Given the description of an element on the screen output the (x, y) to click on. 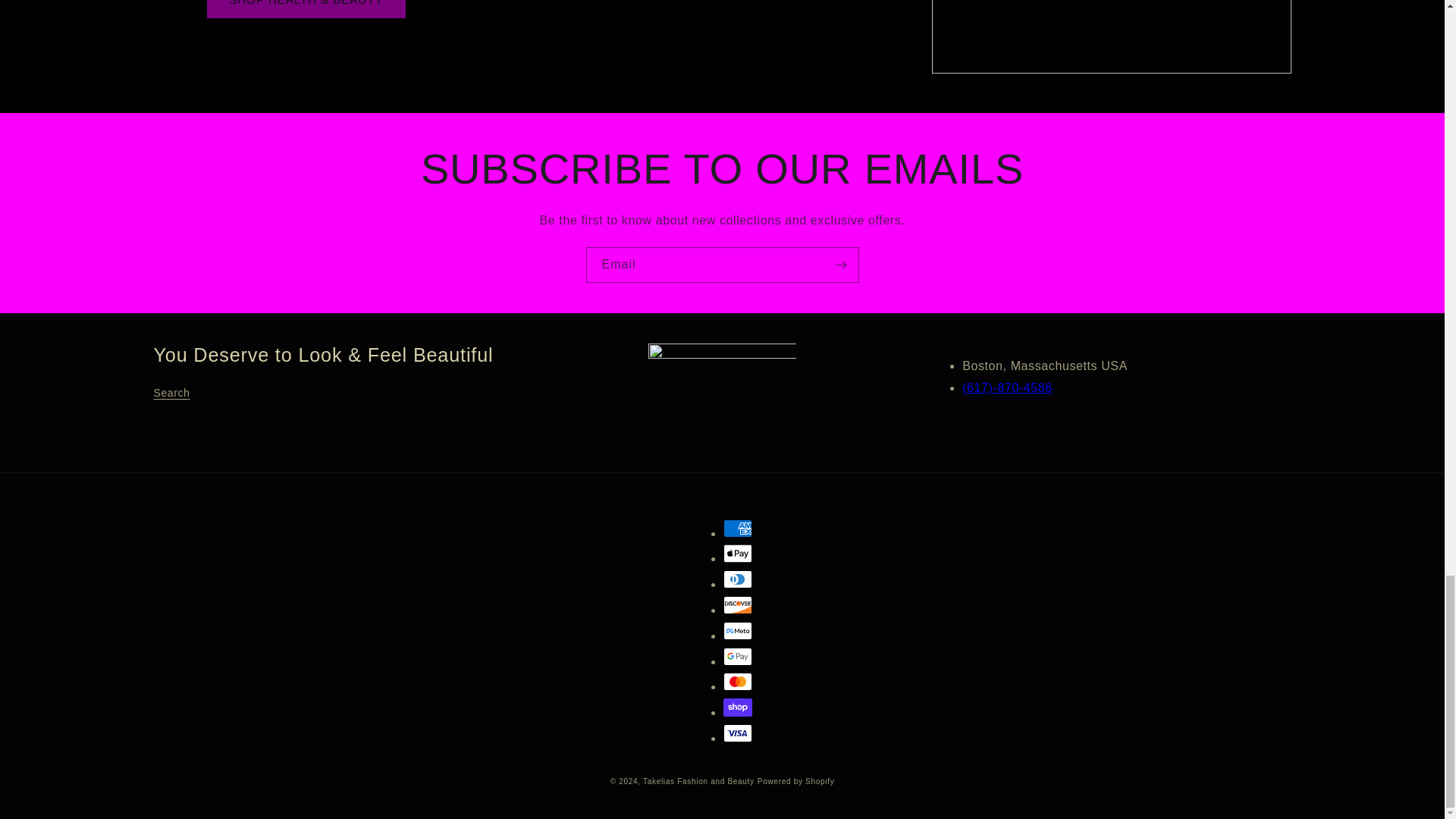
Meta Pay (737, 630)
Visa (737, 732)
Diners Club (737, 579)
Apple Pay (737, 553)
Google Pay (737, 656)
Discover (737, 605)
American Express (737, 528)
Shop Pay (737, 707)
Mastercard (737, 681)
